Given the description of an element on the screen output the (x, y) to click on. 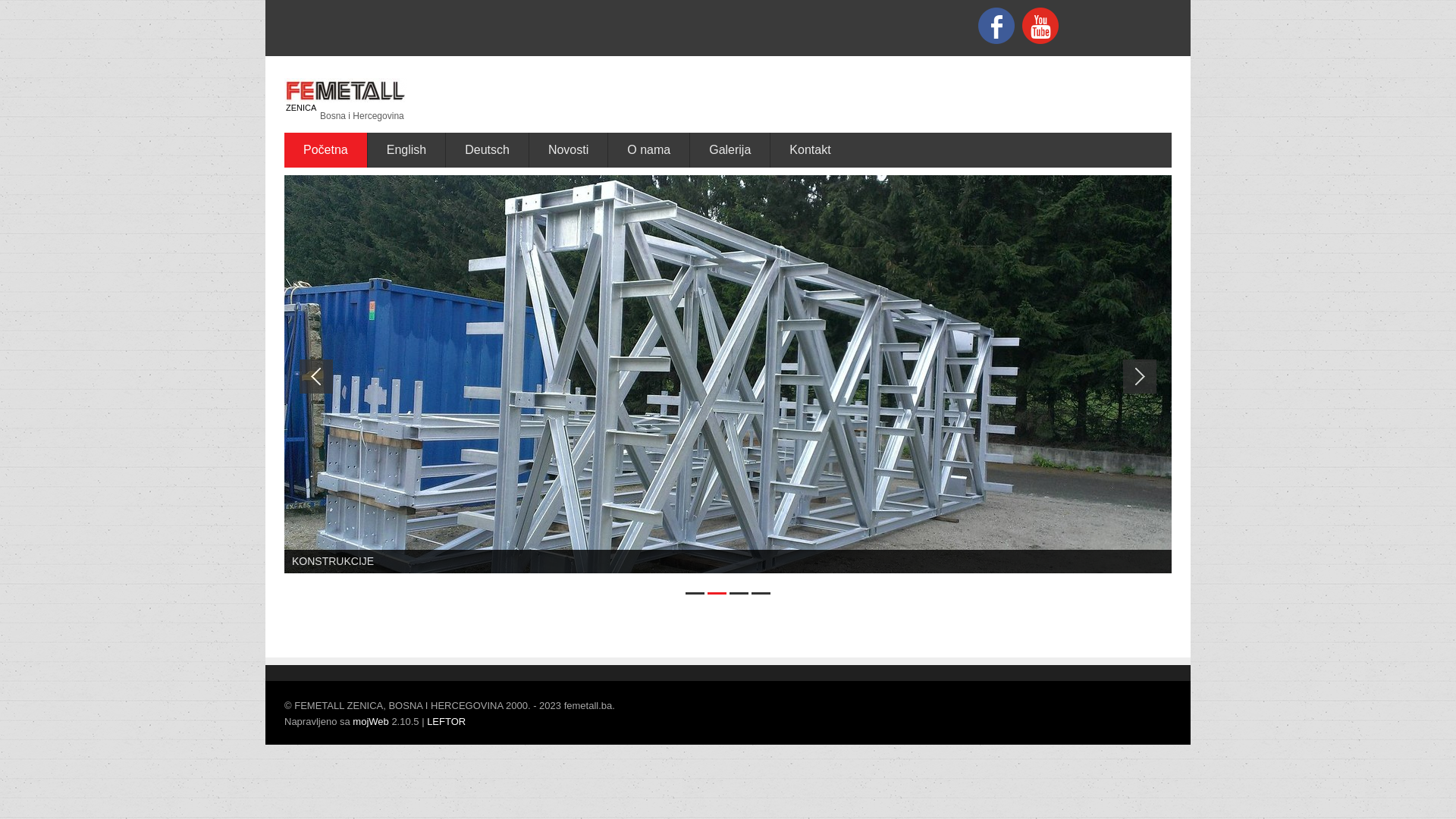
O nama Element type: text (649, 149)
4 Element type: text (760, 593)
Galerija Element type: text (730, 149)
English Element type: text (406, 149)
Deutsch Element type: text (487, 149)
ZENICA Element type: text (300, 107)
1 Element type: text (694, 593)
Novosti Element type: text (568, 149)
3 Element type: text (738, 593)
2 Element type: text (716, 593)
LEFTOR Element type: text (445, 721)
mojWeb Element type: text (370, 721)
Kontakt Element type: text (809, 149)
